Given the description of an element on the screen output the (x, y) to click on. 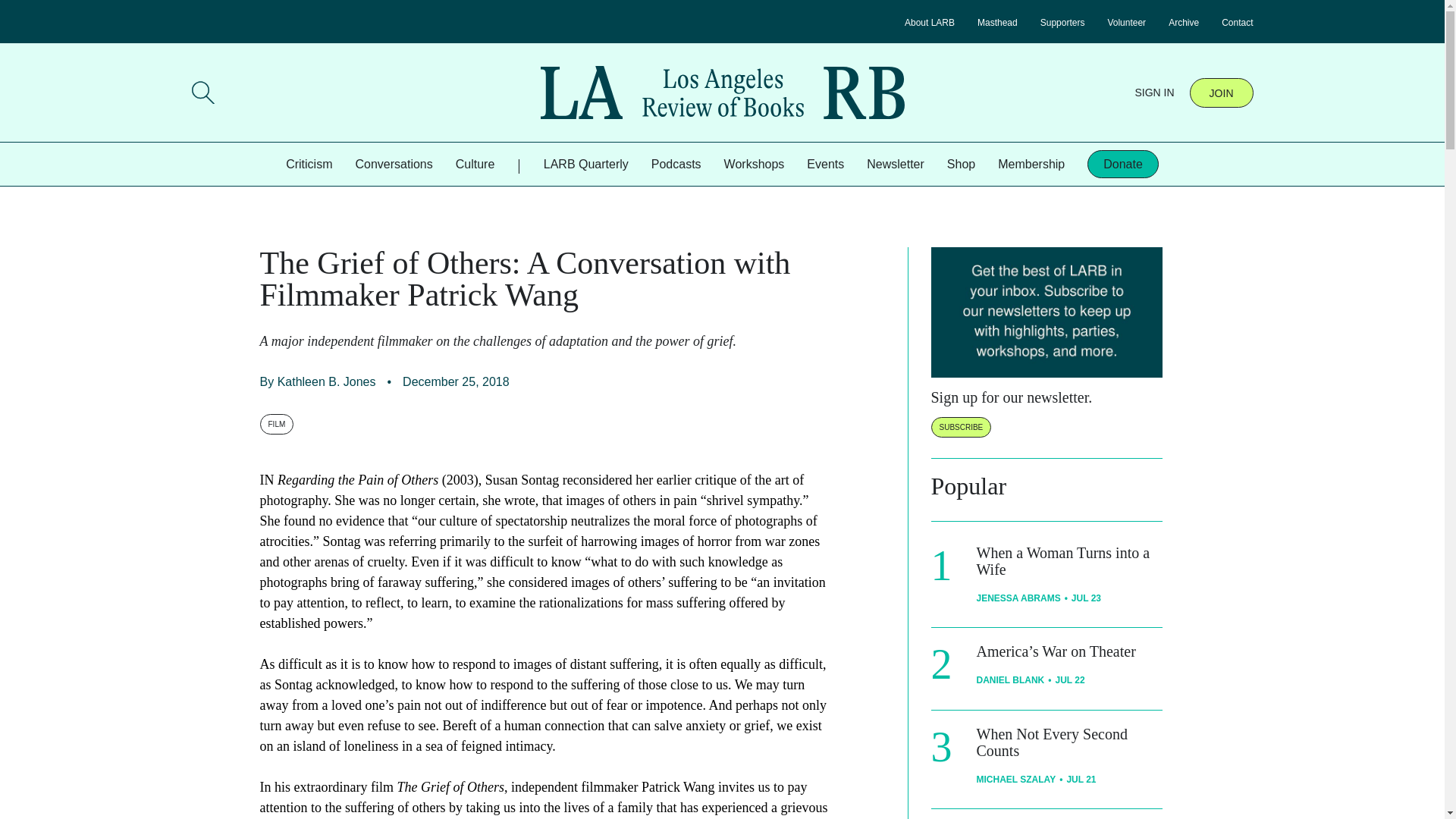
SIGN IN (1153, 92)
Shop (961, 163)
LARB Quarterly (585, 163)
Criticism (308, 163)
Archive (1183, 22)
Podcasts (675, 163)
Workshops (753, 163)
Kathleen B. Jones (326, 381)
Masthead (996, 22)
Sign up for our newsletter. (1012, 397)
FILM (276, 424)
Donate (1122, 163)
Contact (1236, 22)
JOIN (1221, 91)
Membership (1030, 163)
